Given the description of an element on the screen output the (x, y) to click on. 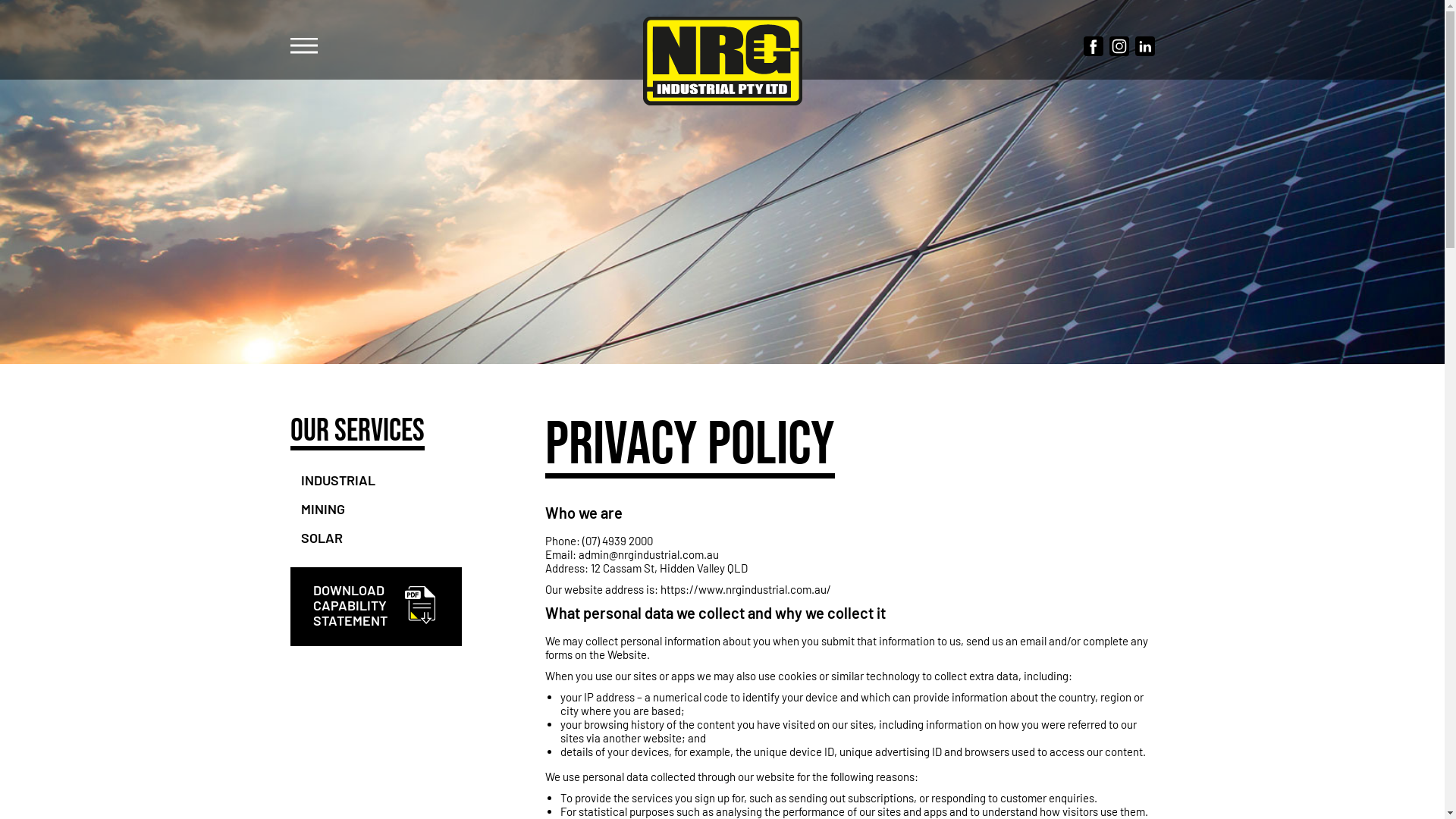
SOLAR Element type: text (320, 537)
MINING Element type: text (321, 508)
(07) 4939 2000 Element type: text (617, 540)
INDUSTRIAL Element type: text (337, 479)
DOWNLOAD CAPABILITY STATEMENT Element type: text (349, 604)
https://www.nrgindustrial.com.au/ Element type: text (745, 589)
admin@nrgindustrial.com.au Element type: text (648, 554)
